Given the description of an element on the screen output the (x, y) to click on. 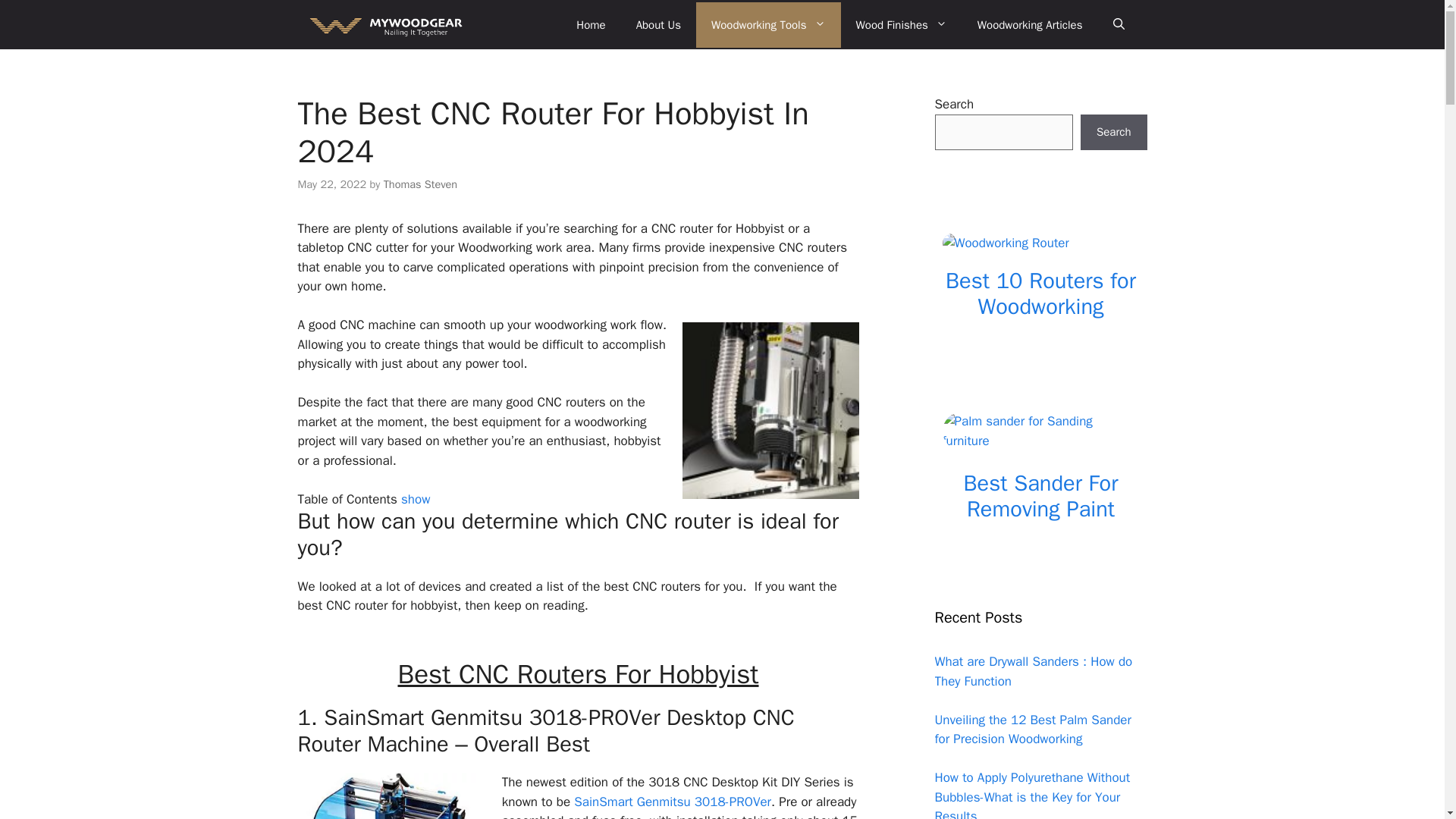
My Wood Gear (383, 24)
Woodworking Articles (1029, 23)
Thomas Steven (420, 183)
View all posts by Thomas Steven (420, 183)
Wood Finishes (901, 23)
Woodworking Tools (768, 23)
Home (590, 23)
SainSmart Genmitsu 3018-PROVer (672, 801)
show (415, 498)
About Us (658, 23)
